Given the description of an element on the screen output the (x, y) to click on. 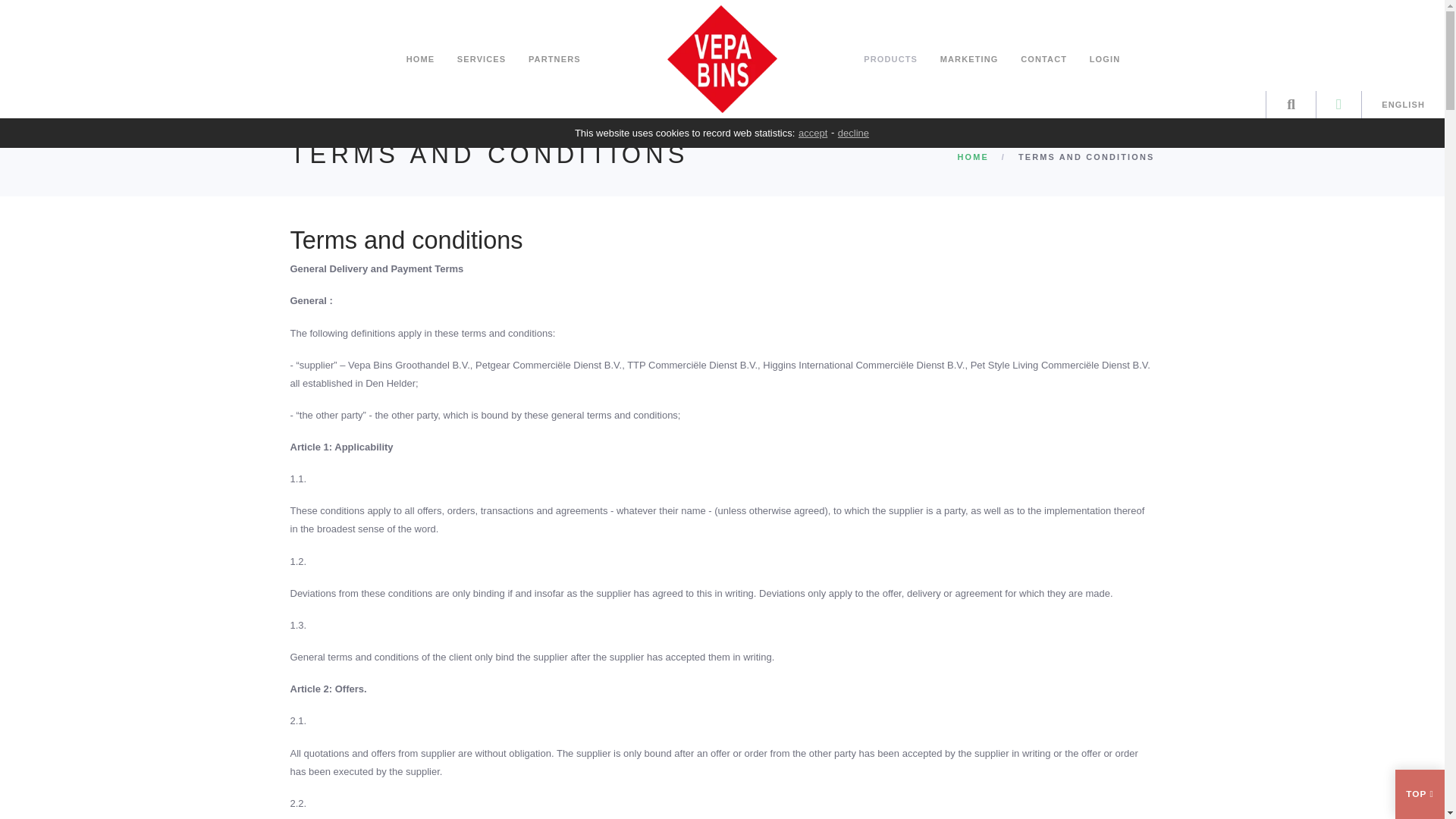
PARTNERS (554, 58)
CONTACT (1043, 58)
SERVICES (481, 58)
HOME (420, 58)
MARKETING (969, 58)
Search (1290, 104)
PRODUCTS (890, 58)
login (1338, 103)
LOGIN (1105, 58)
